Given the description of an element on the screen output the (x, y) to click on. 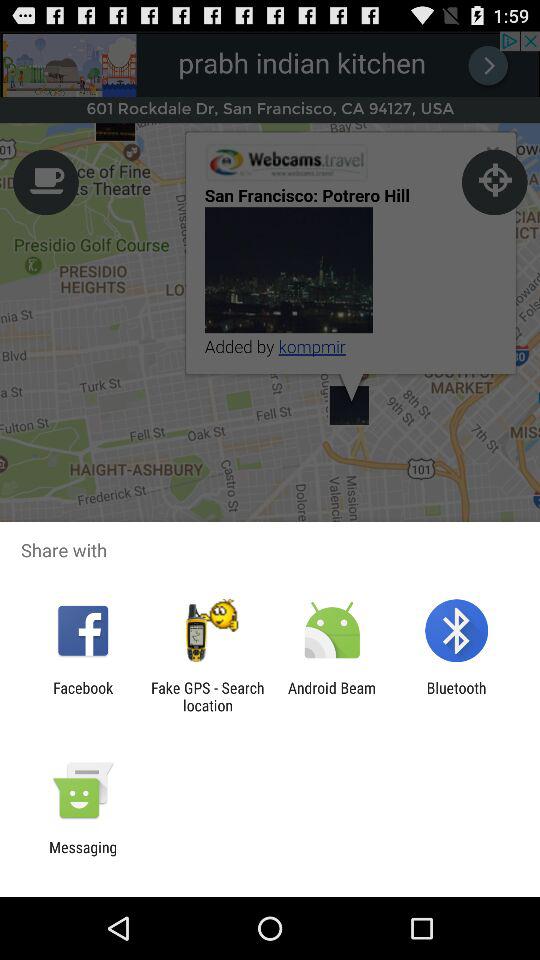
click the item at the bottom right corner (456, 696)
